Given the description of an element on the screen output the (x, y) to click on. 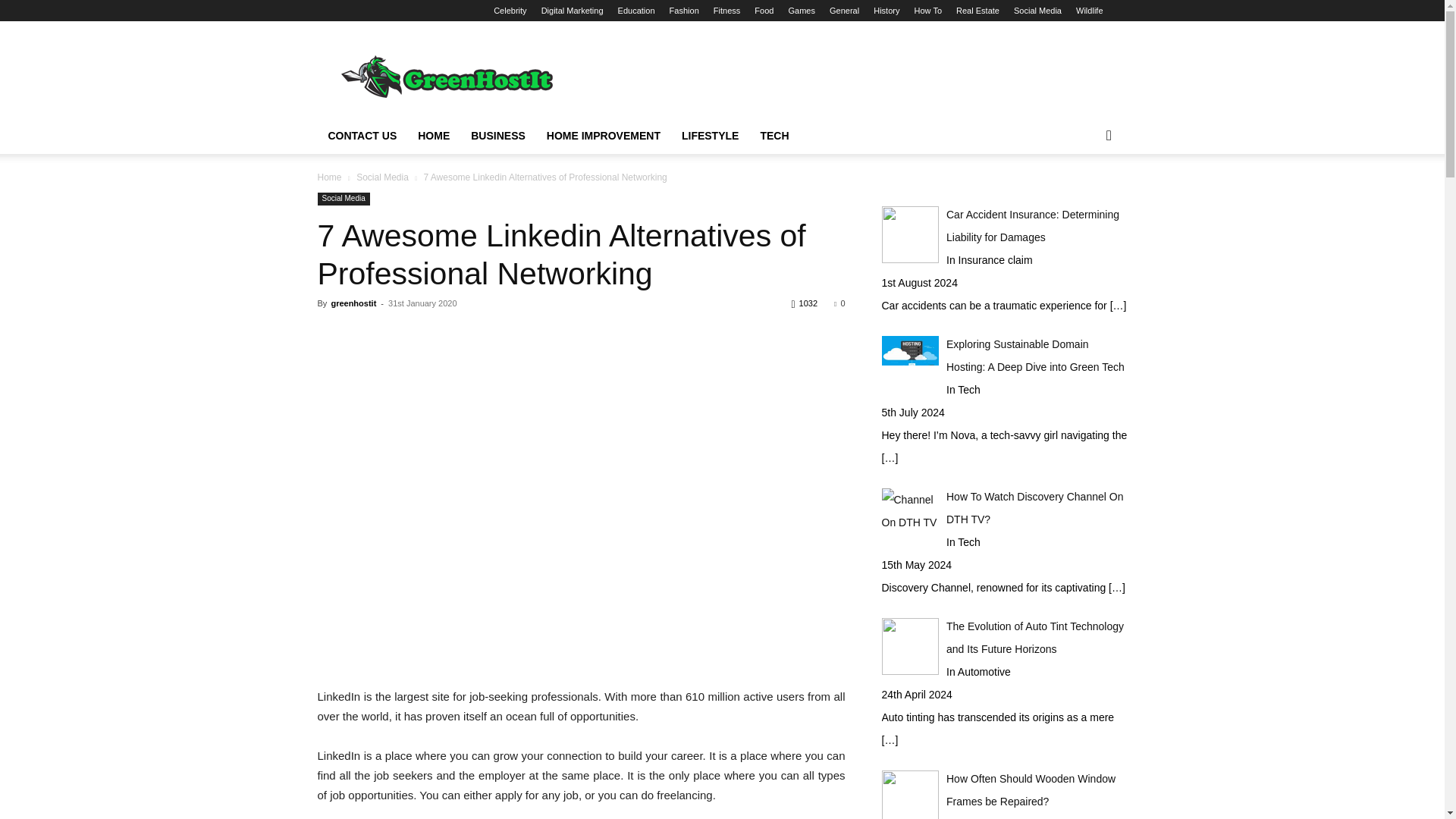
Fitness (726, 10)
Education (636, 10)
Fashion (683, 10)
History (886, 10)
General (844, 10)
Digital Marketing (572, 10)
Celebrity (509, 10)
HOME (433, 135)
Games (800, 10)
Wildlife (1088, 10)
